Given the description of an element on the screen output the (x, y) to click on. 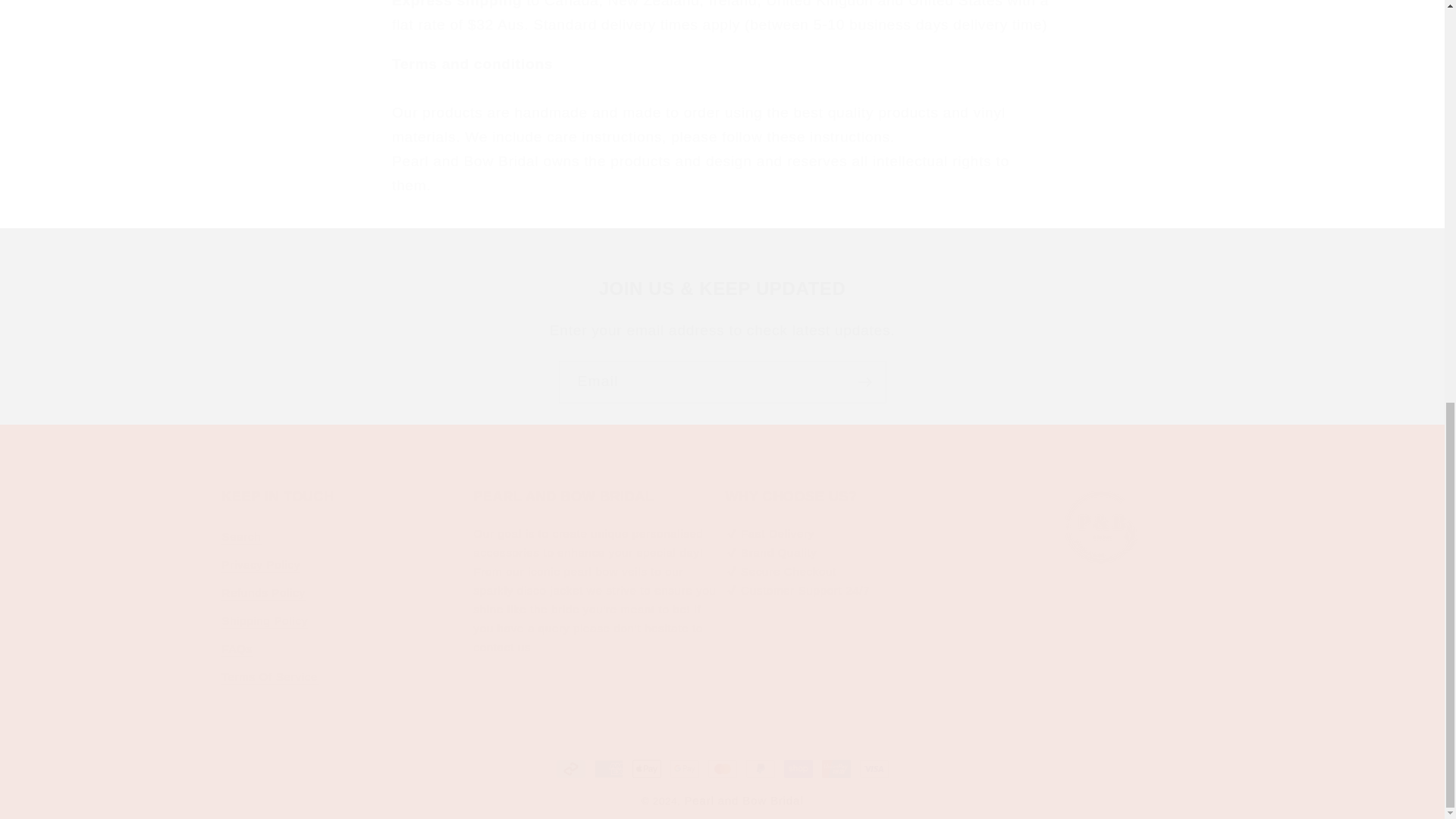
Terms Of Service (269, 676)
Pearl and Bow Bridal (743, 799)
Enter your email address to check latest updates. (722, 330)
Email (721, 382)
Privacy Policy (260, 564)
FAQs (236, 648)
Search (240, 538)
Refunds Policy (262, 592)
